Given the description of an element on the screen output the (x, y) to click on. 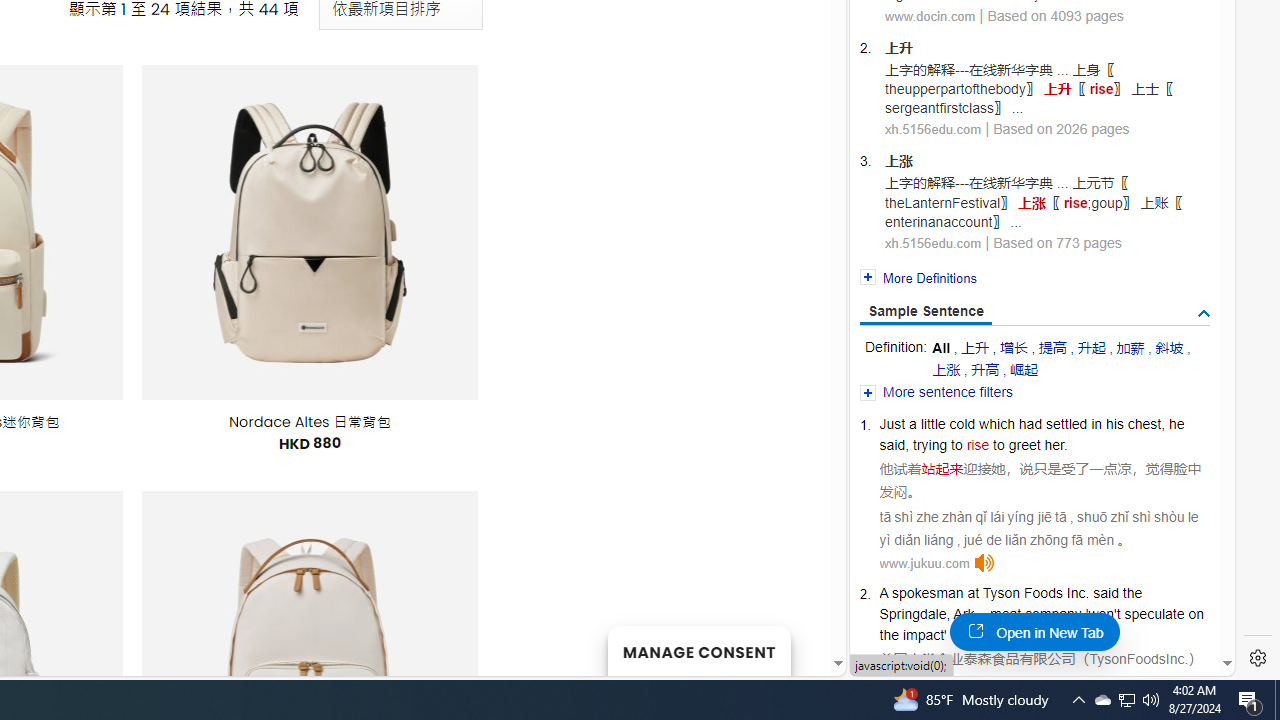
her (1053, 444)
settled (1066, 424)
Just (892, 424)
rise (1023, 634)
cold (961, 424)
Foods (1043, 592)
